Given the description of an element on the screen output the (x, y) to click on. 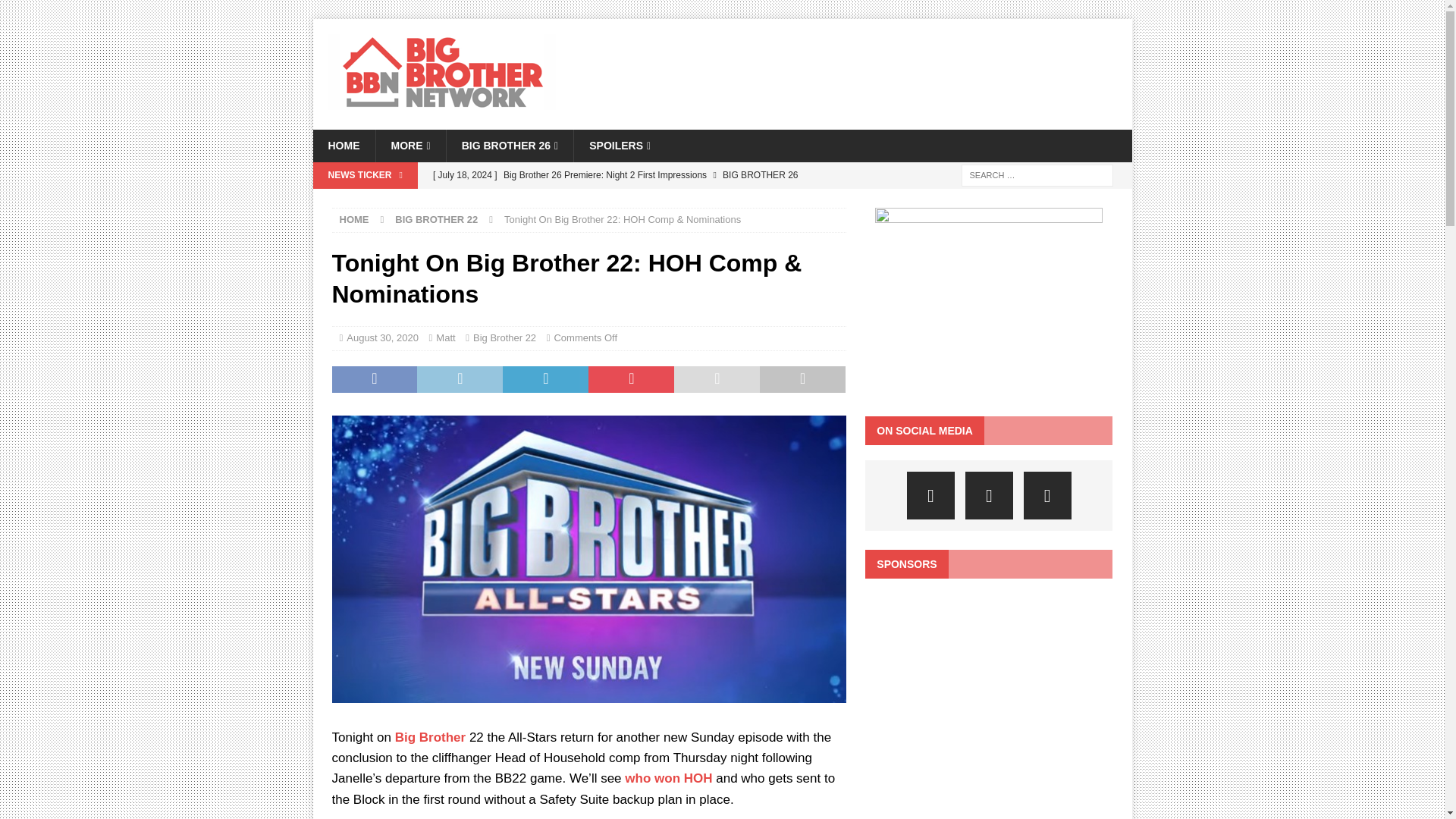
HOME (343, 145)
BIG BROTHER 26 (509, 145)
MORE (409, 145)
Big Brother 26 Premiere: Night 2 First Impressions (634, 175)
